Given the description of an element on the screen output the (x, y) to click on. 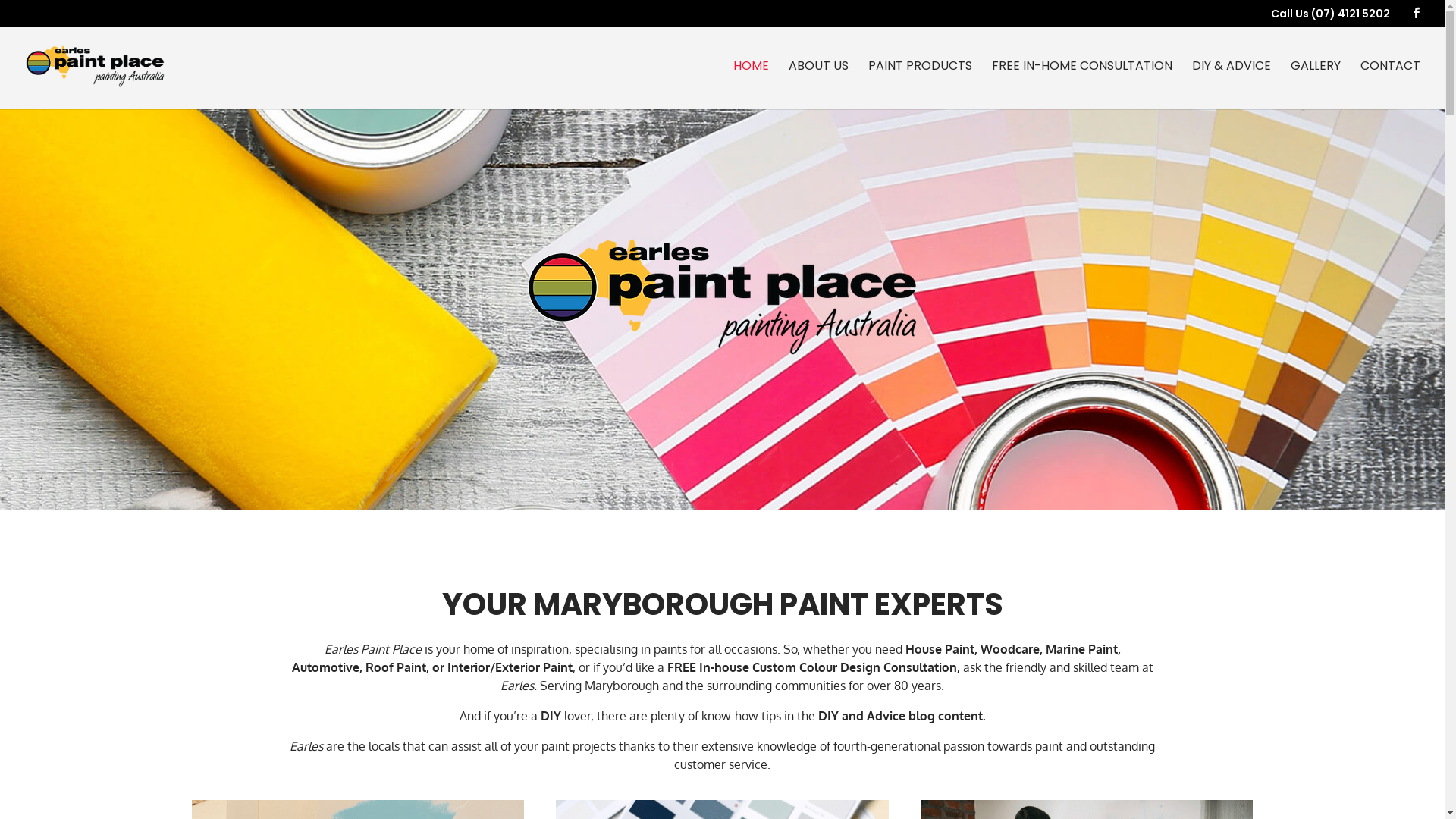
DIY & ADVICE Element type: text (1231, 84)
Call Us (07) 4121 5202 Element type: text (1330, 13)
GALLERY Element type: text (1315, 84)
FREE IN-HOME CONSULTATION Element type: text (1081, 84)
PAINT PRODUCTS Element type: text (920, 84)
HOME Element type: text (750, 84)
ABOUT US Element type: text (818, 84)
CONTACT Element type: text (1390, 84)
